Given the description of an element on the screen output the (x, y) to click on. 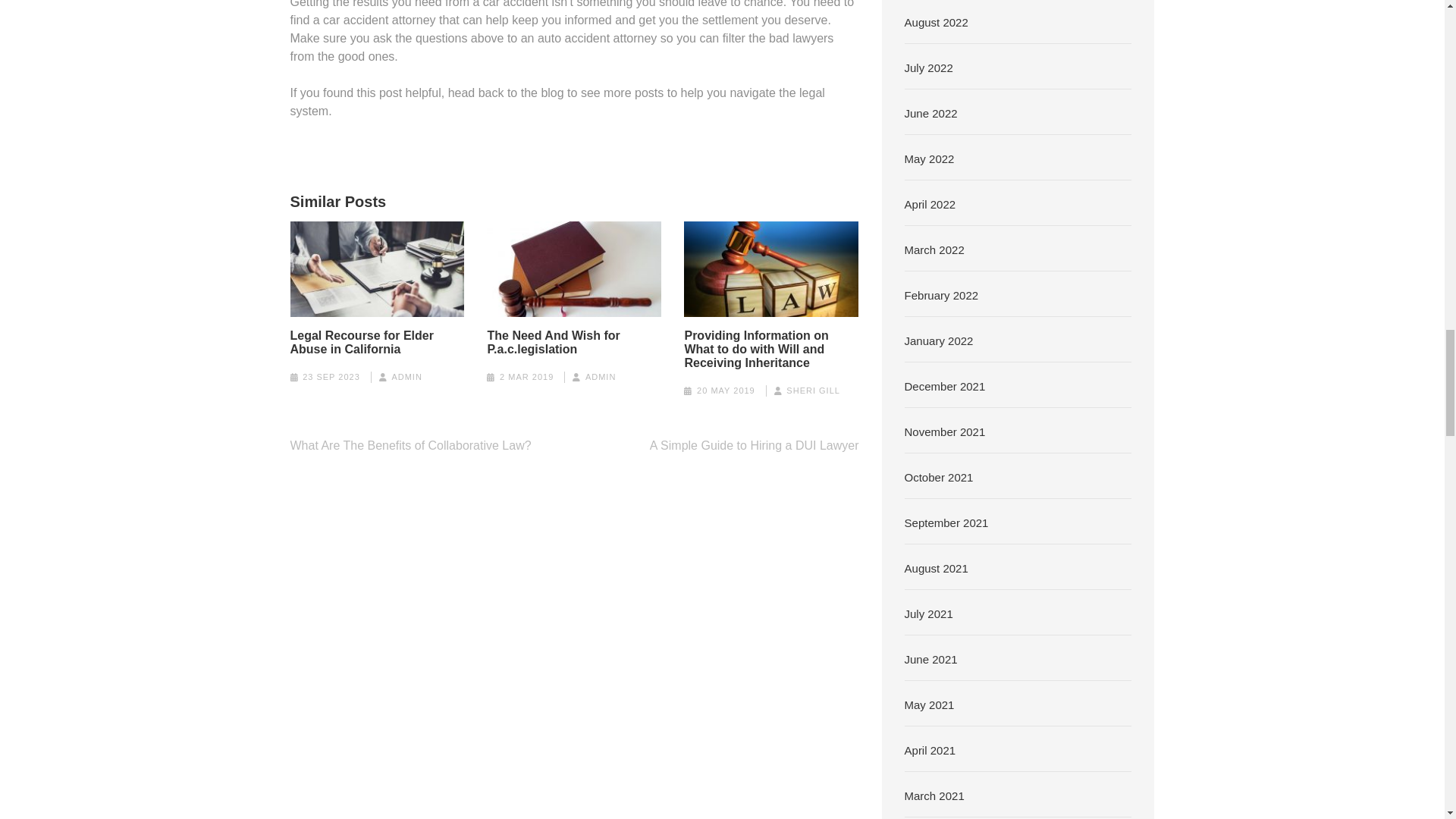
ADMIN (600, 376)
2 MAR 2019 (526, 376)
The Need And Wish for P.a.c.legislation (573, 342)
ADMIN (406, 376)
23 SEP 2023 (330, 376)
20 MAY 2019 (726, 389)
Legal Recourse for Elder Abuse in California (376, 342)
